Given the description of an element on the screen output the (x, y) to click on. 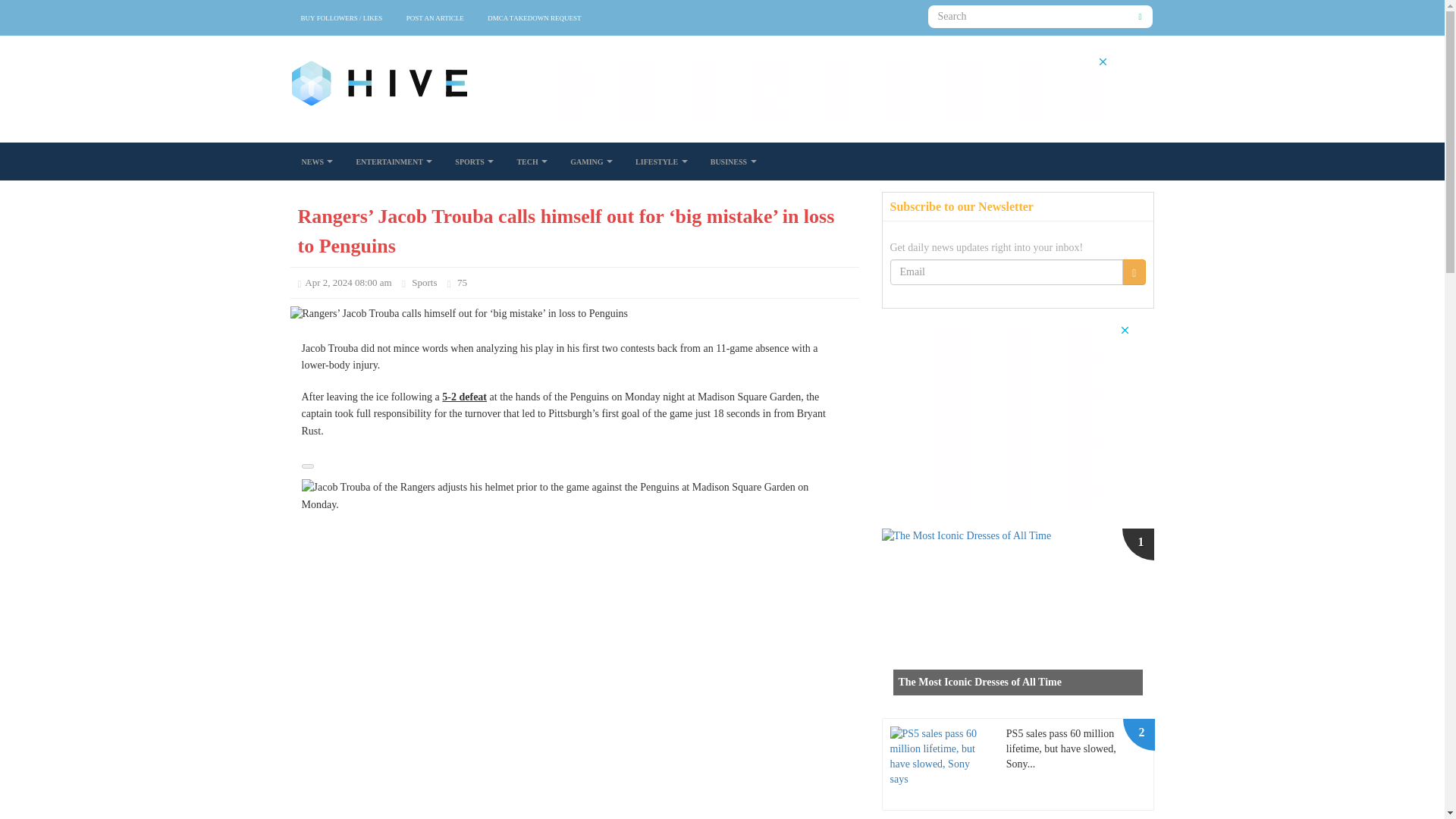
Sports (424, 282)
News (316, 161)
LifeStyle (661, 161)
Post An Article (435, 18)
3rd party ad content (833, 89)
Tech (532, 161)
DMCA Takedown Request (534, 18)
Gaming (591, 161)
Sports (424, 282)
5-2 defeat (464, 396)
Hive News (389, 83)
Entertainment (393, 161)
Sports (474, 161)
Business (733, 161)
Post An Article (435, 18)
